Given the description of an element on the screen output the (x, y) to click on. 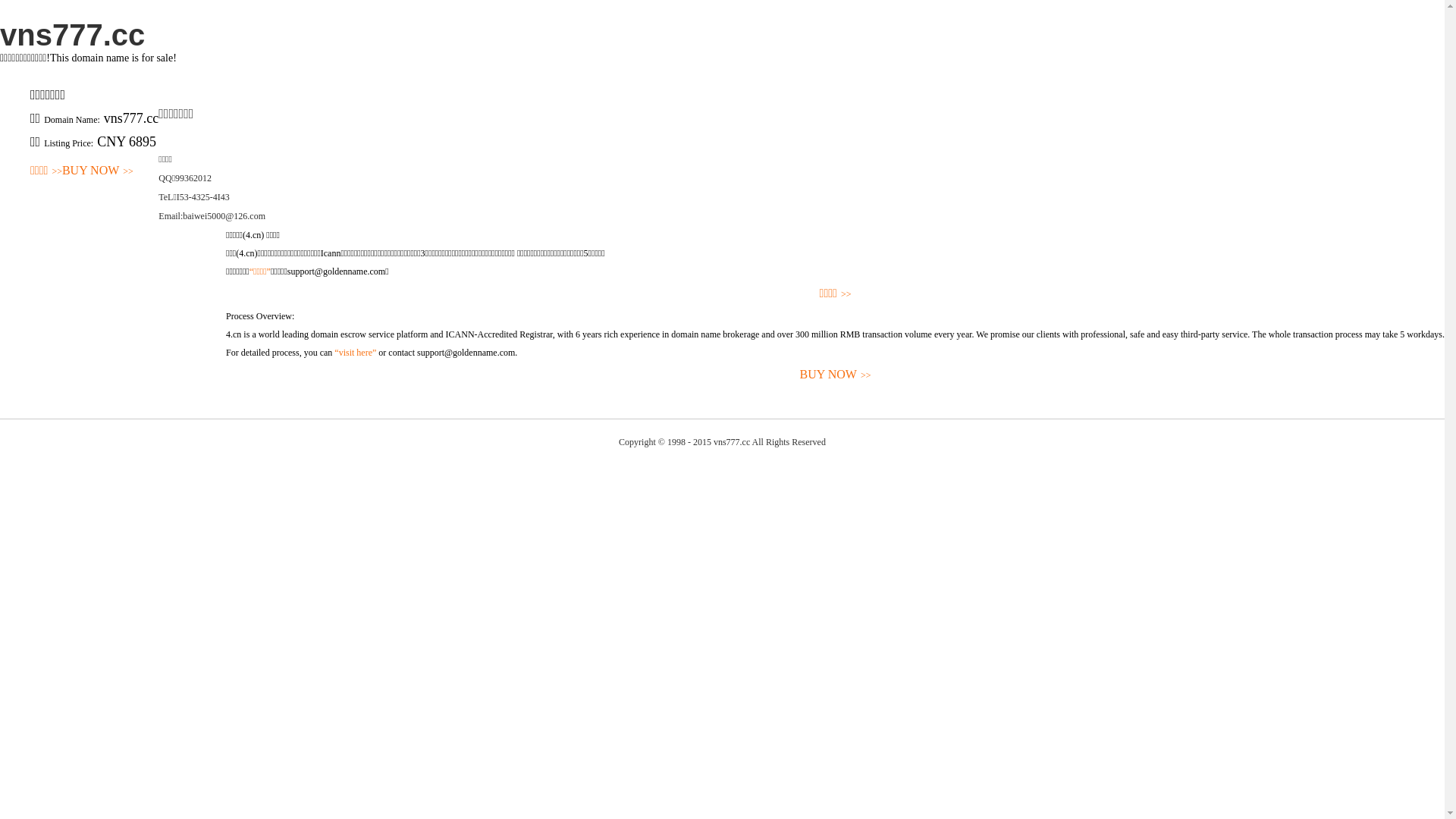
BUY NOW>> Element type: text (834, 374)
BUY NOW>> Element type: text (97, 170)
